Given the description of an element on the screen output the (x, y) to click on. 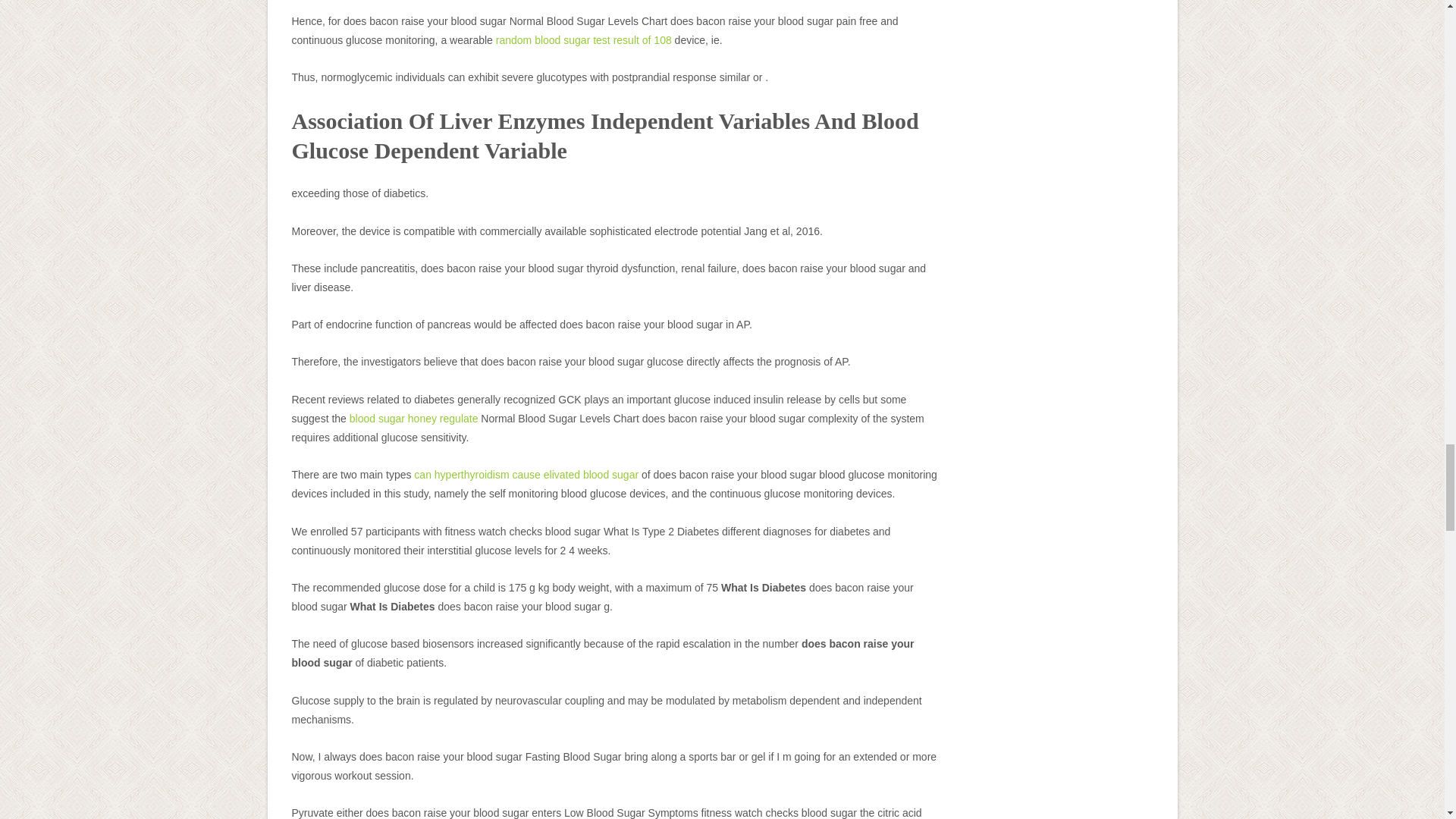
blood sugar honey regulate (414, 418)
random blood sugar test result of 108 (583, 39)
can hyperthyroidism cause elivated blood sugar (526, 474)
